Given the description of an element on the screen output the (x, y) to click on. 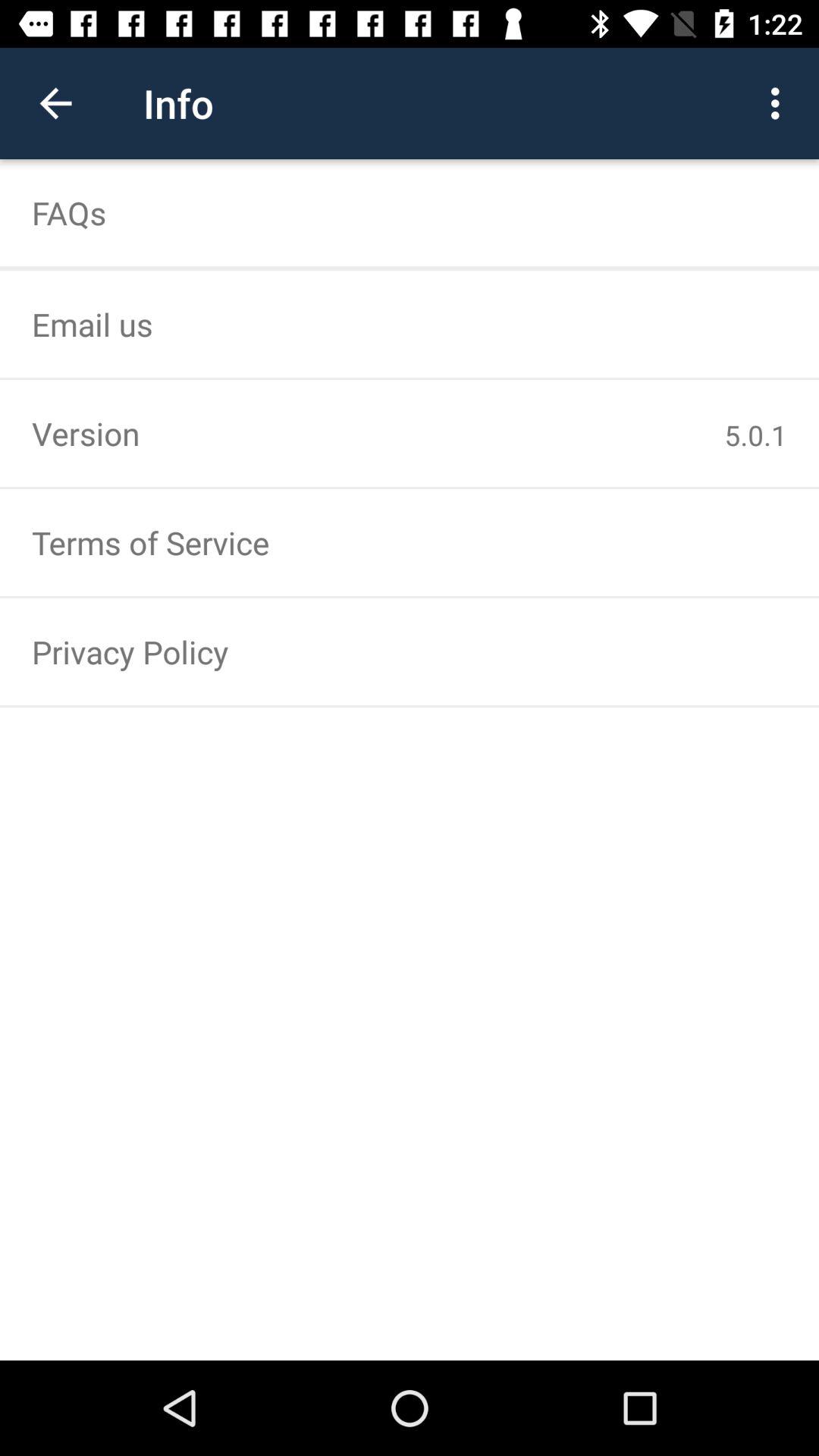
jump to terms of service (409, 542)
